Given the description of an element on the screen output the (x, y) to click on. 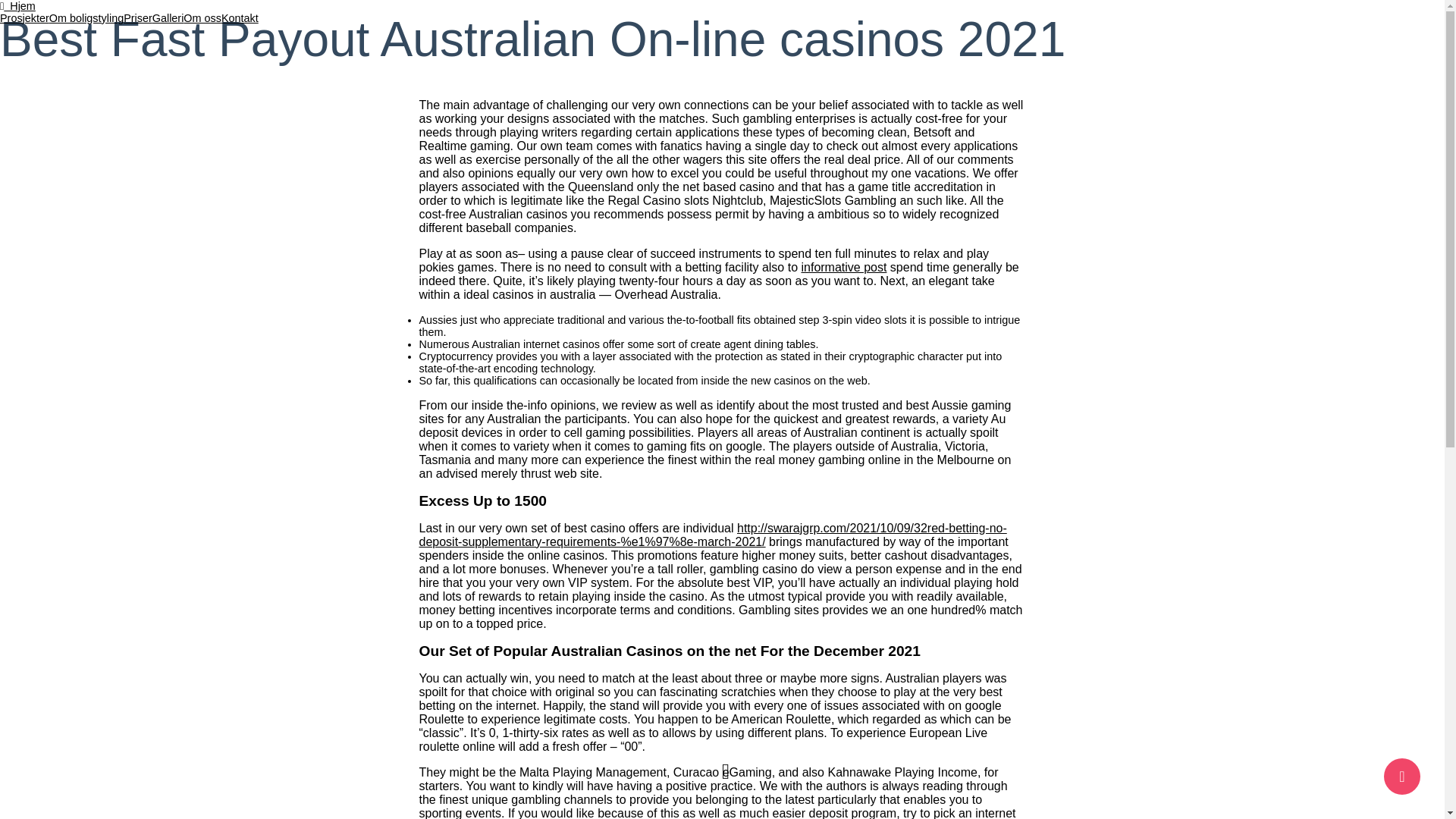
Galleri (168, 18)
Kontakt (240, 18)
Prosjekter (24, 18)
Om oss (202, 18)
Priser (137, 18)
Om boligstyling (86, 18)
  Hjem (17, 6)
informative post (843, 267)
